Given the description of an element on the screen output the (x, y) to click on. 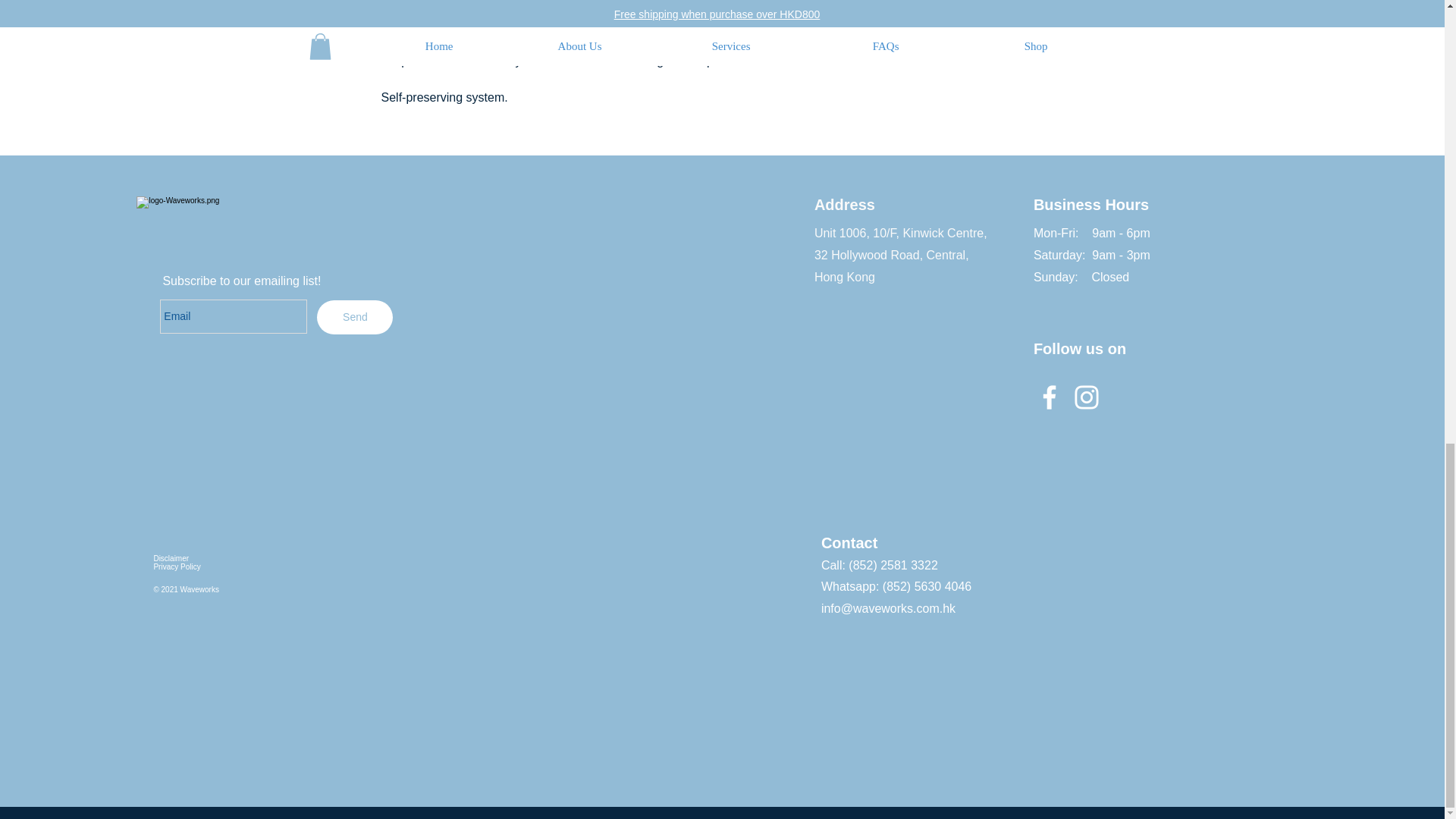
Disclaimer (170, 558)
Privacy Policy (176, 566)
Send (355, 317)
